Given the description of an element on the screen output the (x, y) to click on. 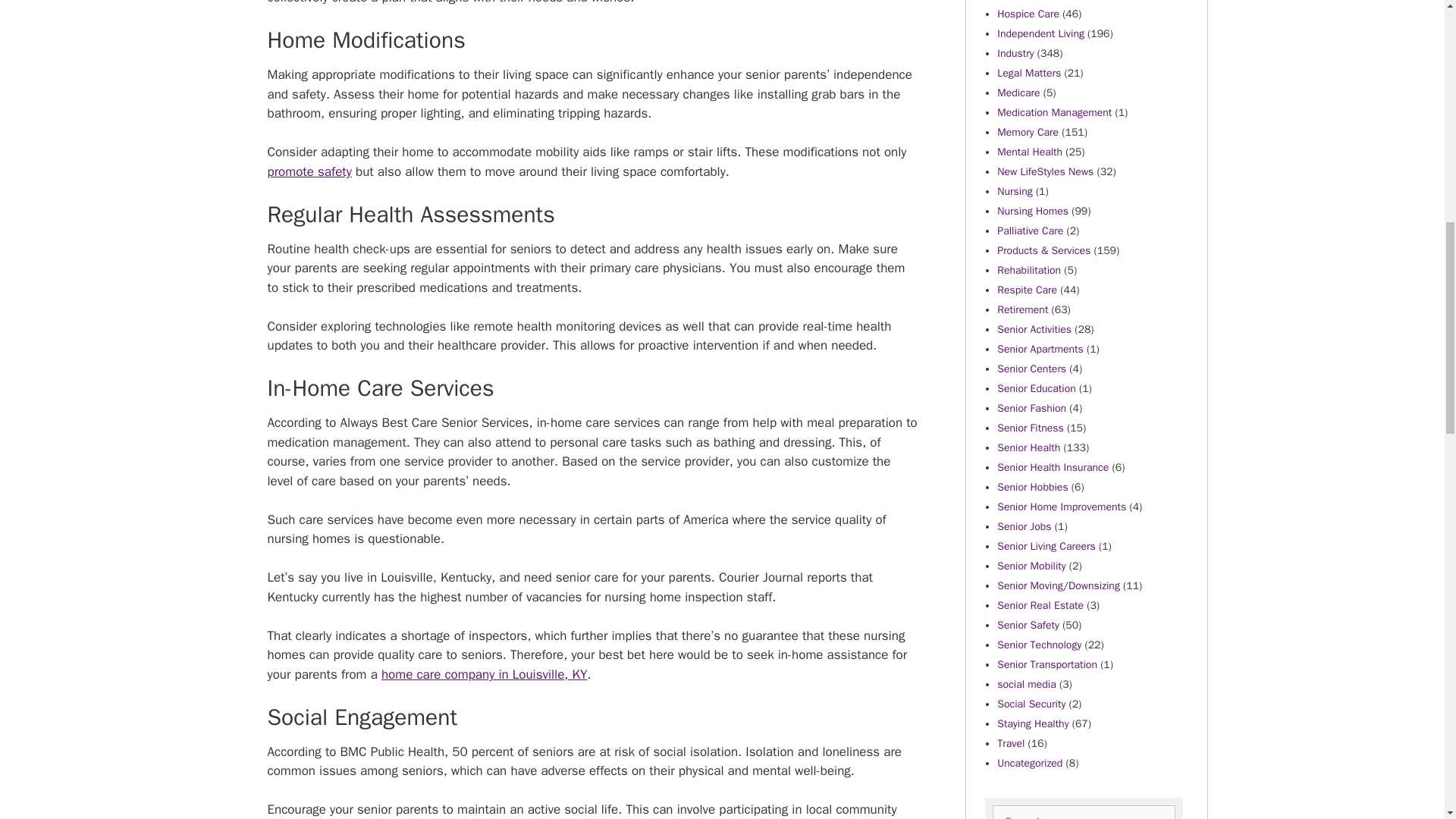
Search for: (1082, 812)
